Given the description of an element on the screen output the (x, y) to click on. 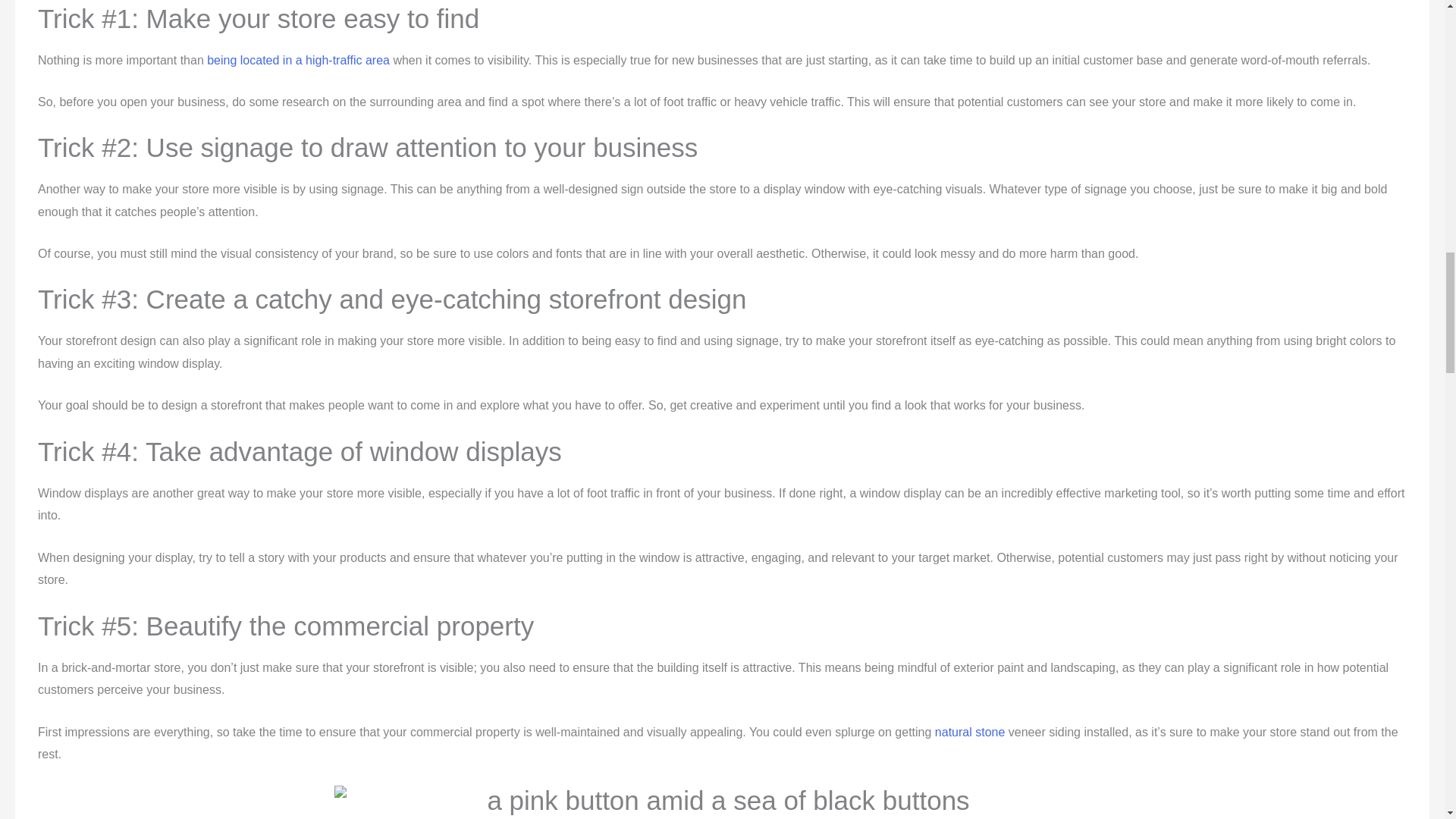
Standing Out from the Crowd (721, 802)
natural stone (970, 731)
being located in a high-traffic area (298, 60)
